Given the description of an element on the screen output the (x, y) to click on. 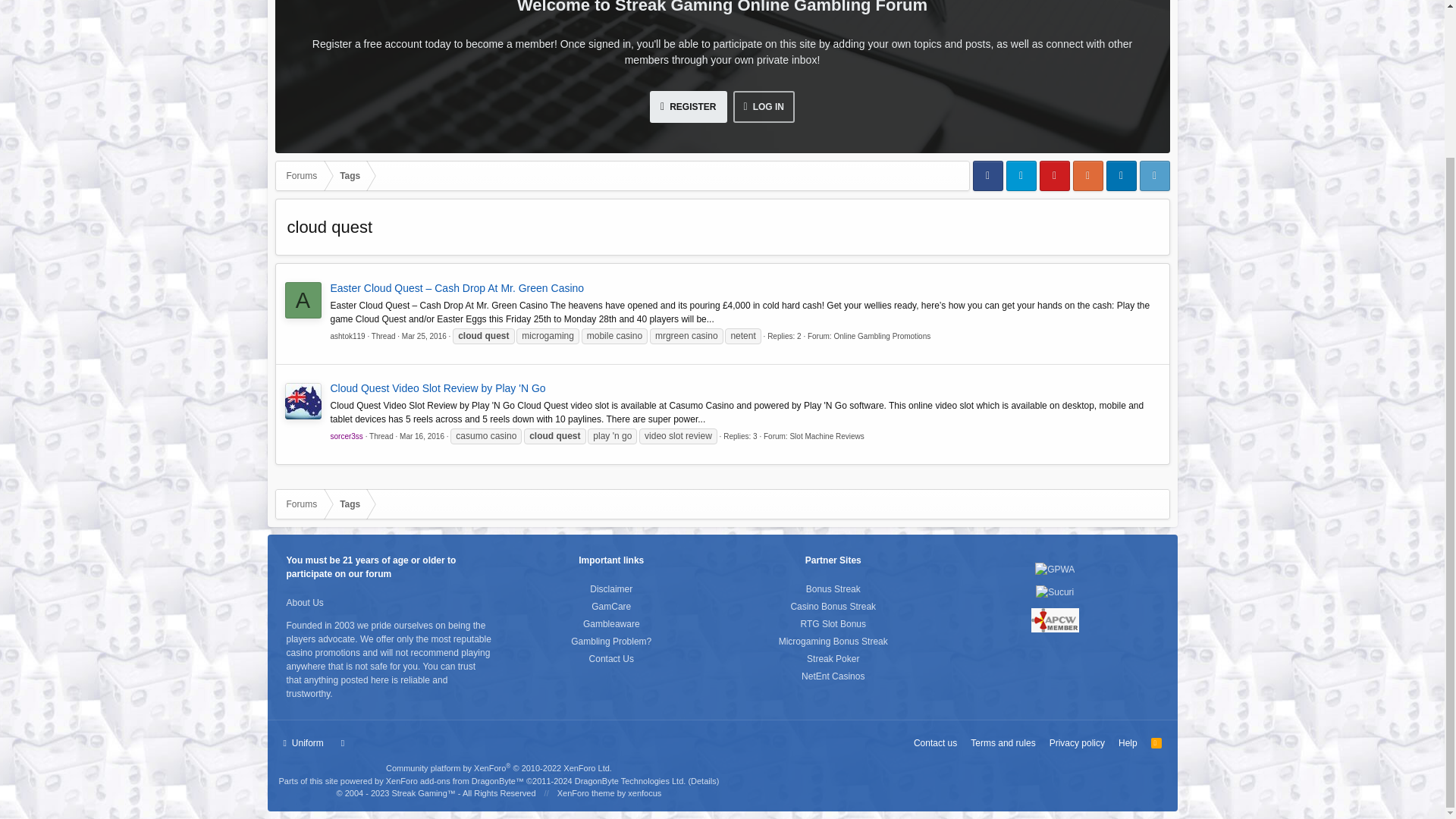
REGISTER (687, 106)
Mar 25, 2016 at 12:31 PM (423, 336)
LOG IN (762, 106)
Forums (302, 175)
Mar 16, 2016 at 1:22 AM (421, 436)
